Given the description of an element on the screen output the (x, y) to click on. 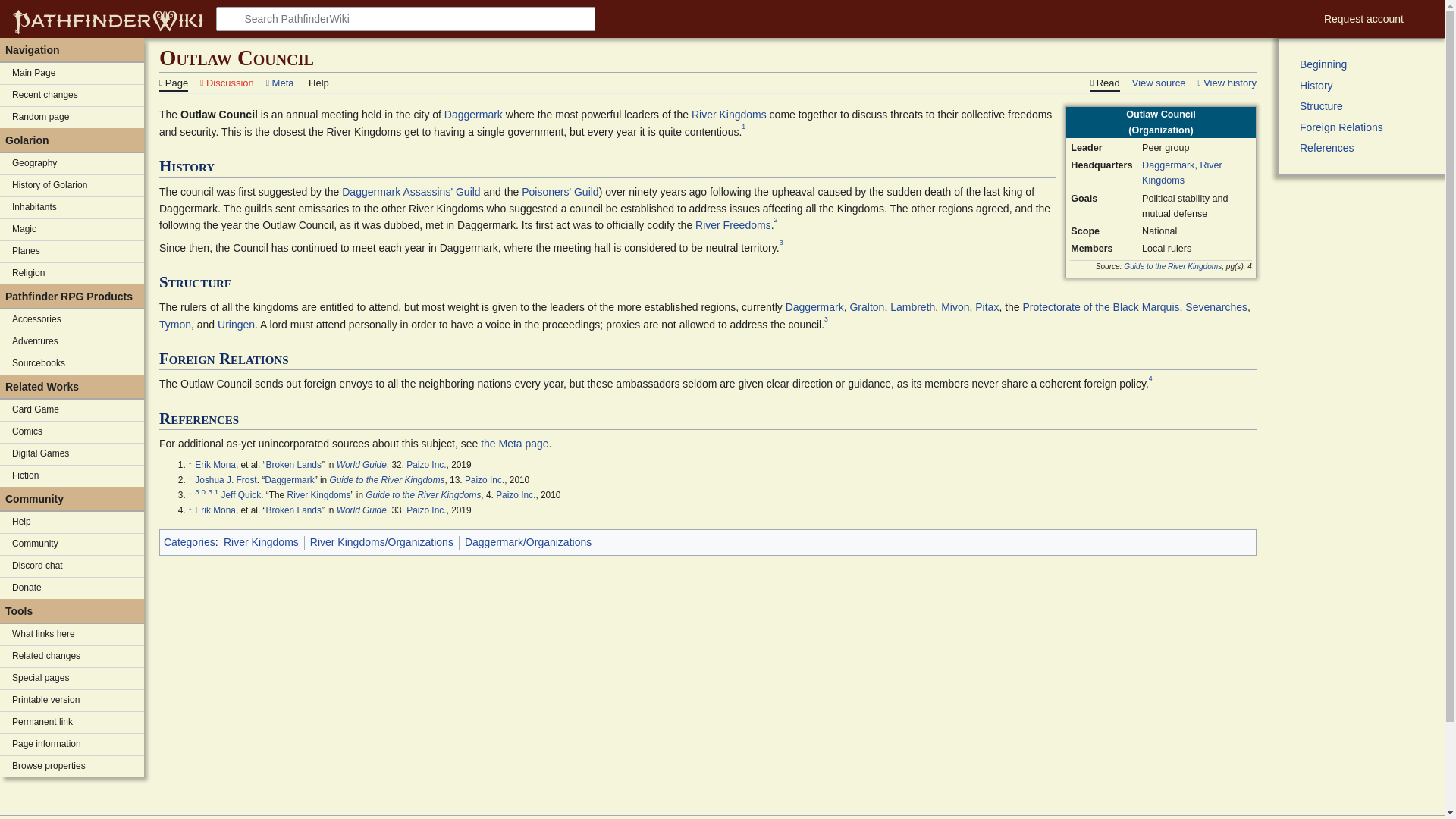
Donate (72, 588)
Search (230, 18)
Search the pages for this text (230, 18)
Permanent link (72, 722)
Planes (72, 251)
Help (72, 522)
Random page (72, 117)
History (1367, 85)
Card Game (72, 409)
Beginning (1367, 64)
Adventures (72, 341)
Discord chat (72, 566)
Digital Games (72, 454)
Accessories (72, 319)
What links here (72, 634)
